Given the description of an element on the screen output the (x, y) to click on. 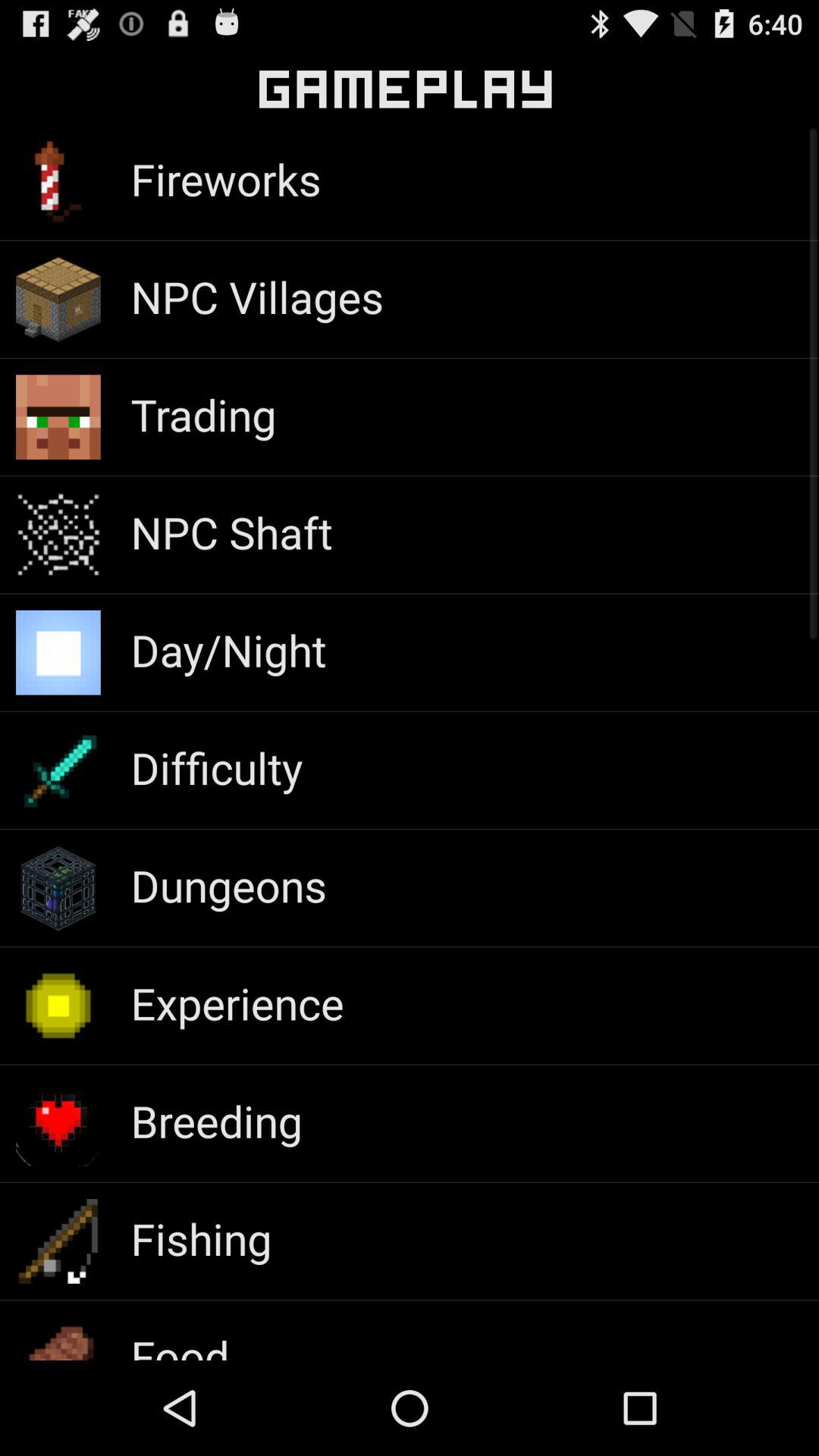
jump to food (179, 1343)
